Given the description of an element on the screen output the (x, y) to click on. 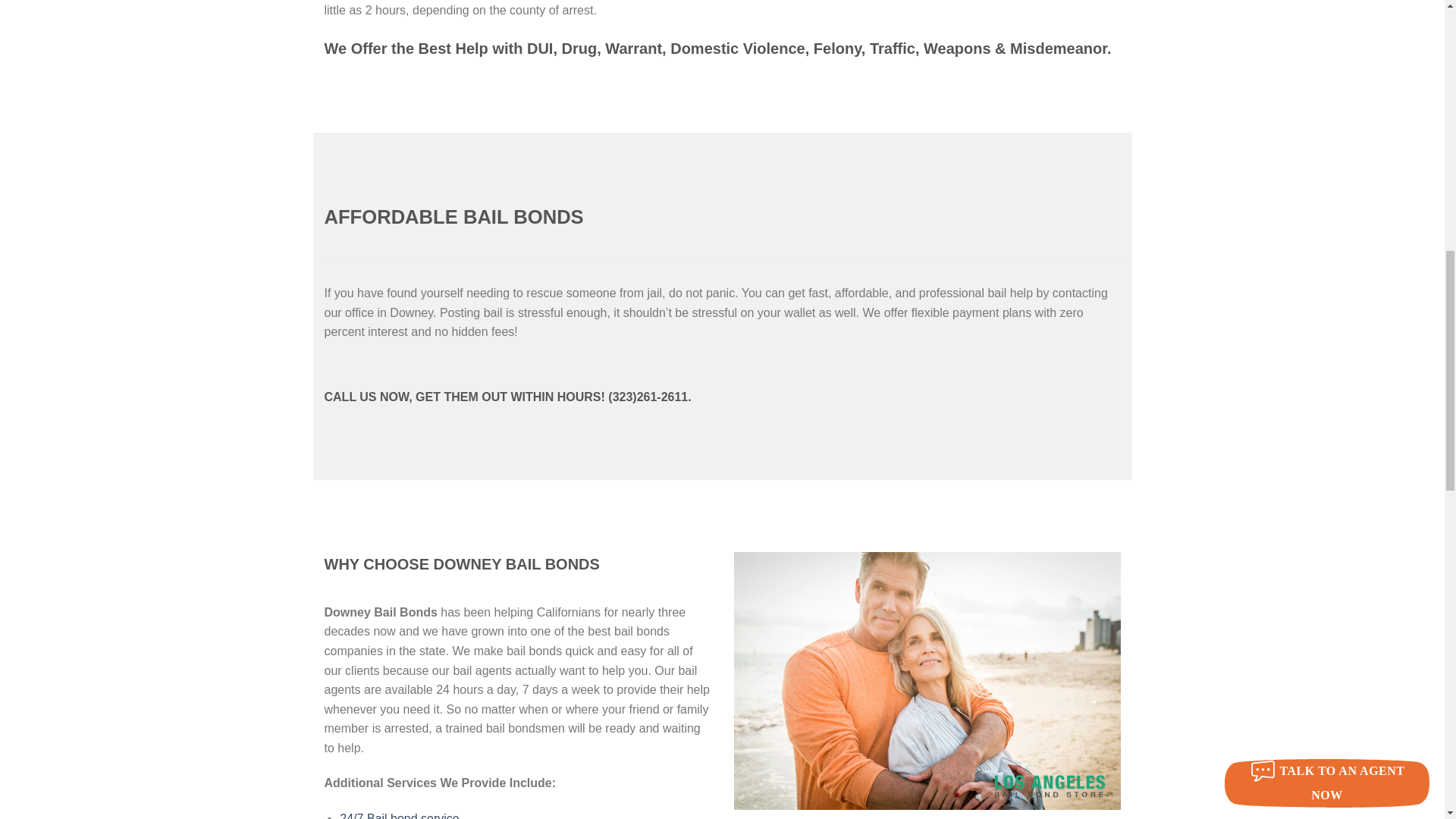
reliable-bail-bonds-in-downey - LOS ANGELES BAIL BOND STORE (927, 680)
